Given the description of an element on the screen output the (x, y) to click on. 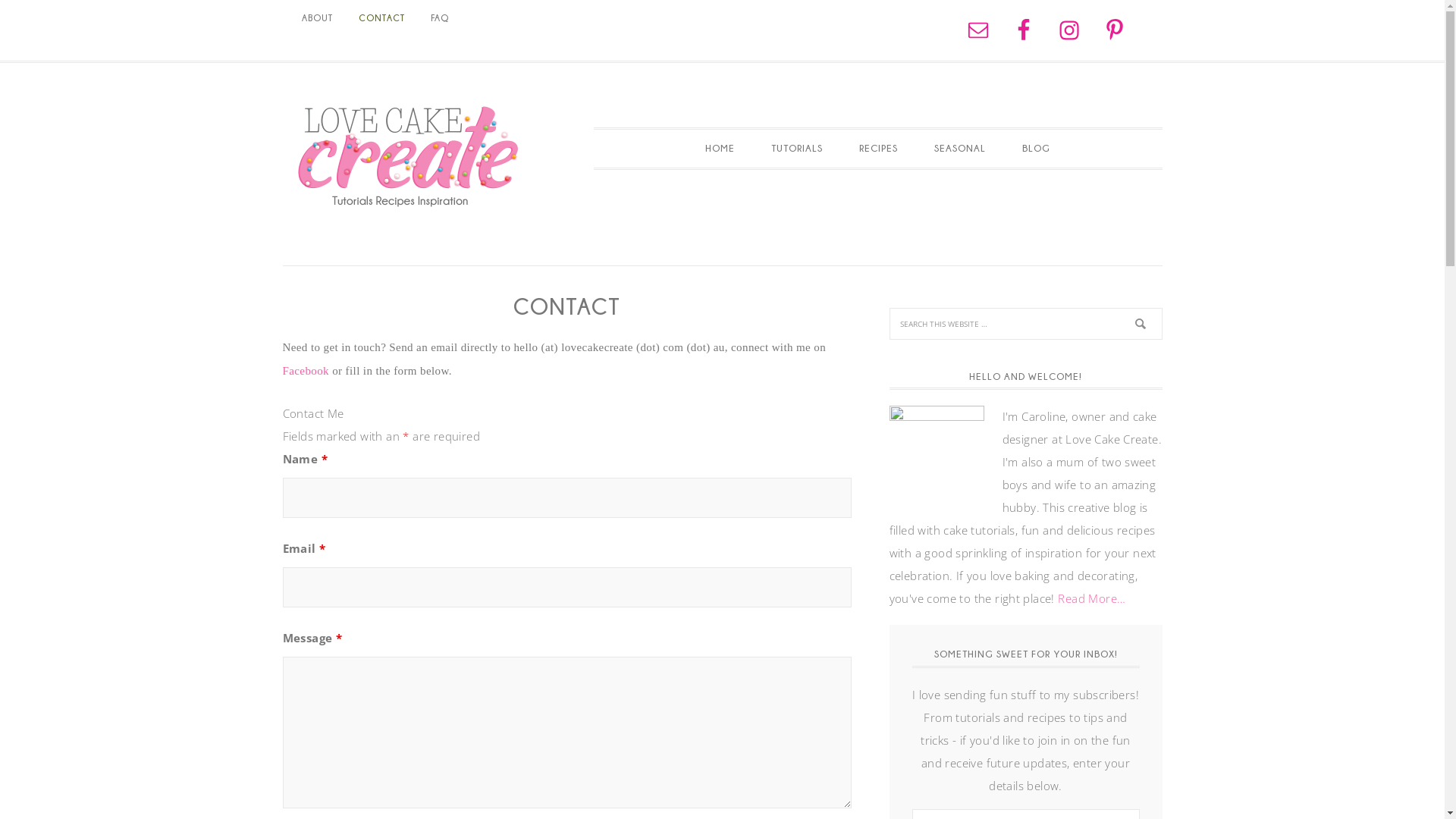
RECIPES Element type: text (878, 148)
TUTORIALS Element type: text (796, 148)
Search Element type: text (1161, 307)
BLOG Element type: text (1035, 148)
FAQ Element type: text (438, 18)
LOVE CAKE CREATE Element type: text (407, 155)
ABOUT Element type: text (316, 18)
Facebook  Element type: text (307, 370)
CONTACT Element type: text (381, 18)
HOME Element type: text (719, 148)
SEASONAL Element type: text (959, 148)
